Given the description of an element on the screen output the (x, y) to click on. 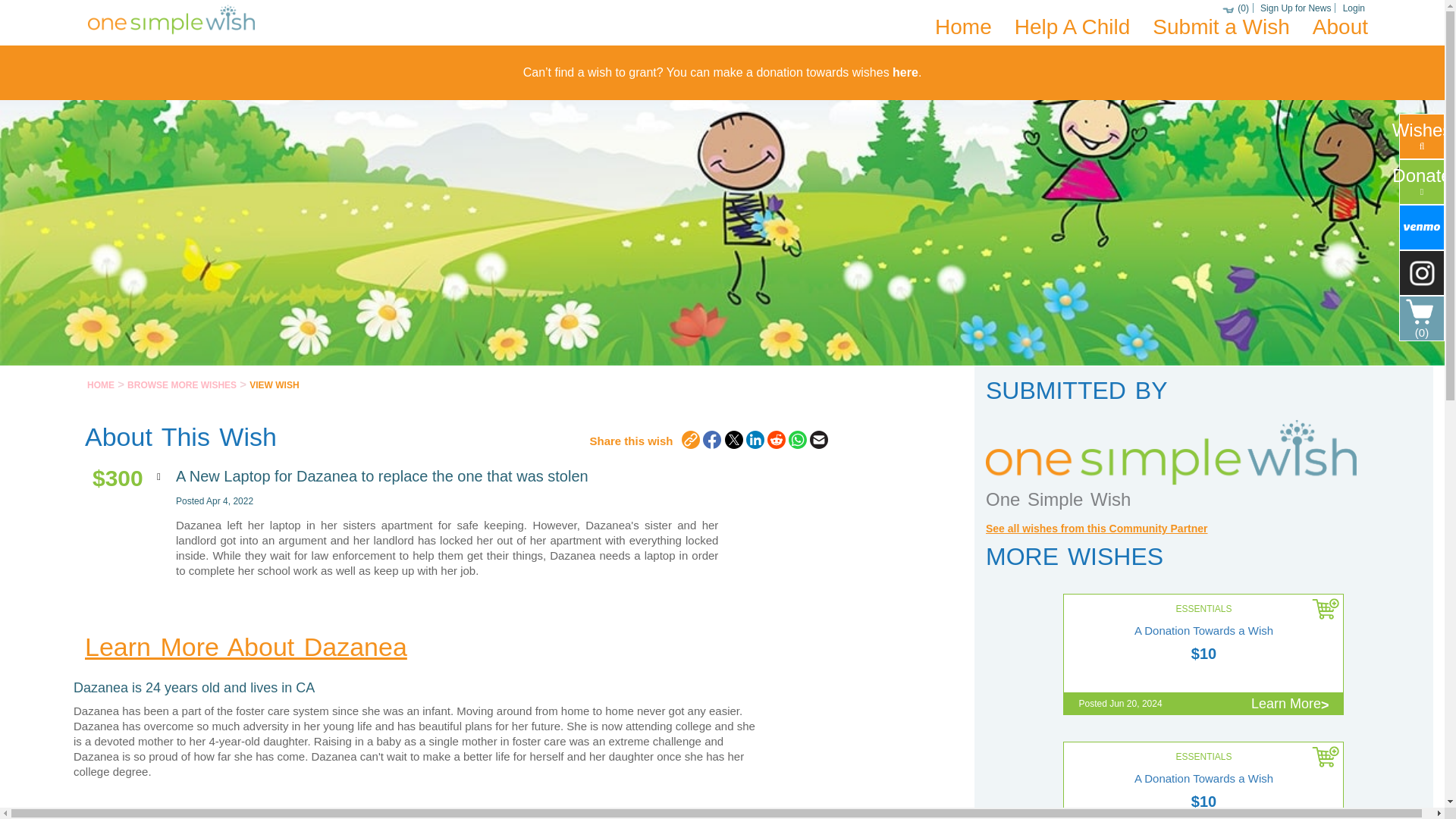
Follow on Venmo (1421, 227)
Facebook (711, 439)
Help A Child (1072, 26)
Reddit (776, 439)
Email a Link (818, 439)
Follow on Instagram (1421, 272)
Wishes (1421, 136)
VIEW WISH (273, 385)
Reddit (776, 439)
Add to Cart (1325, 759)
149215 (1325, 759)
WhatsApp (797, 439)
Login (1353, 8)
WhatsApp (797, 439)
HOME (101, 385)
